Given the description of an element on the screen output the (x, y) to click on. 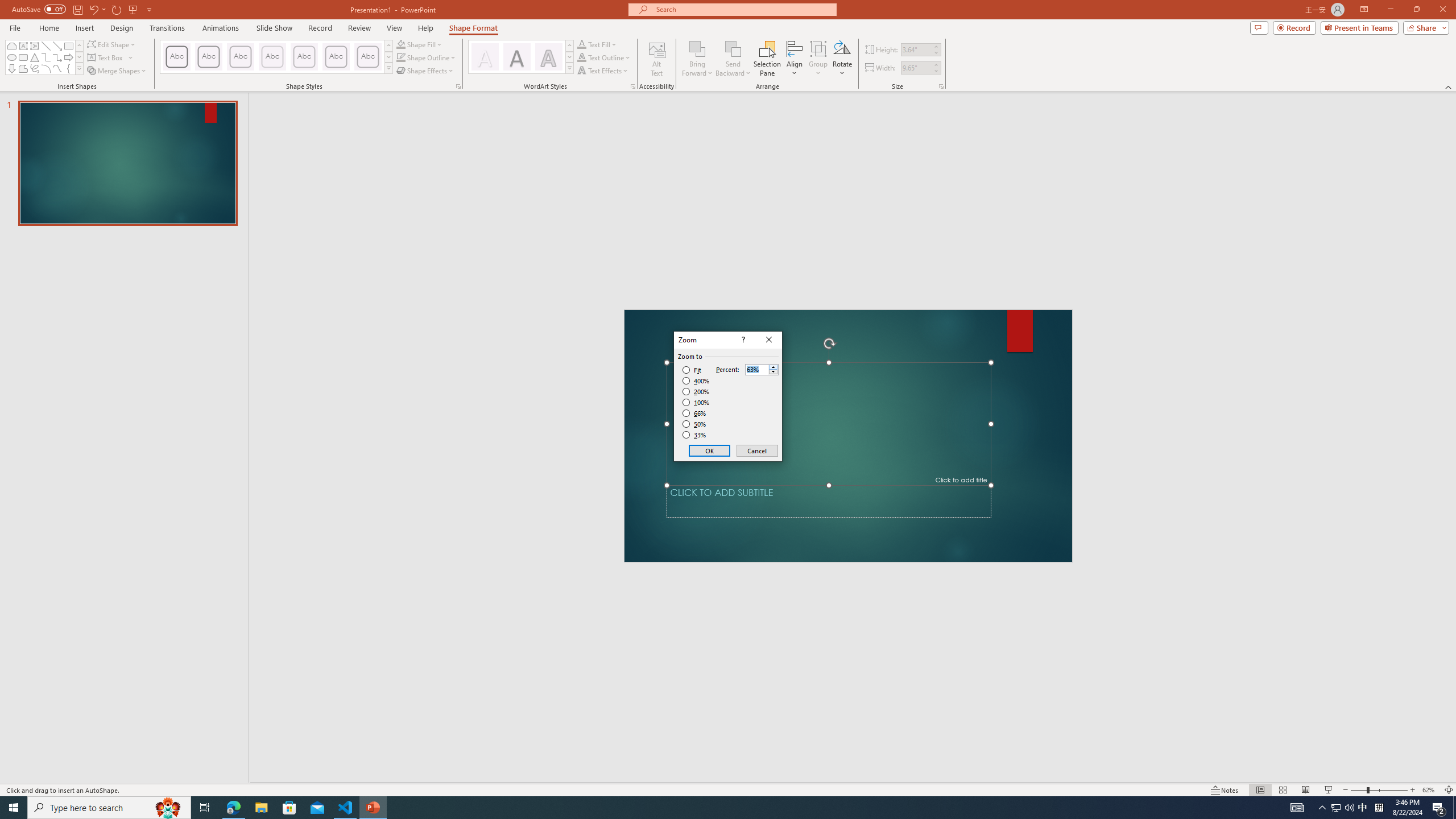
Shape Outline Blue, Accent 1 (400, 56)
Group (817, 58)
Selection Pane... (767, 58)
400% (696, 380)
Colored Outline - Gold, Accent 3 (272, 56)
Colored Outline - Orange, Accent 2 (240, 56)
